Given the description of an element on the screen output the (x, y) to click on. 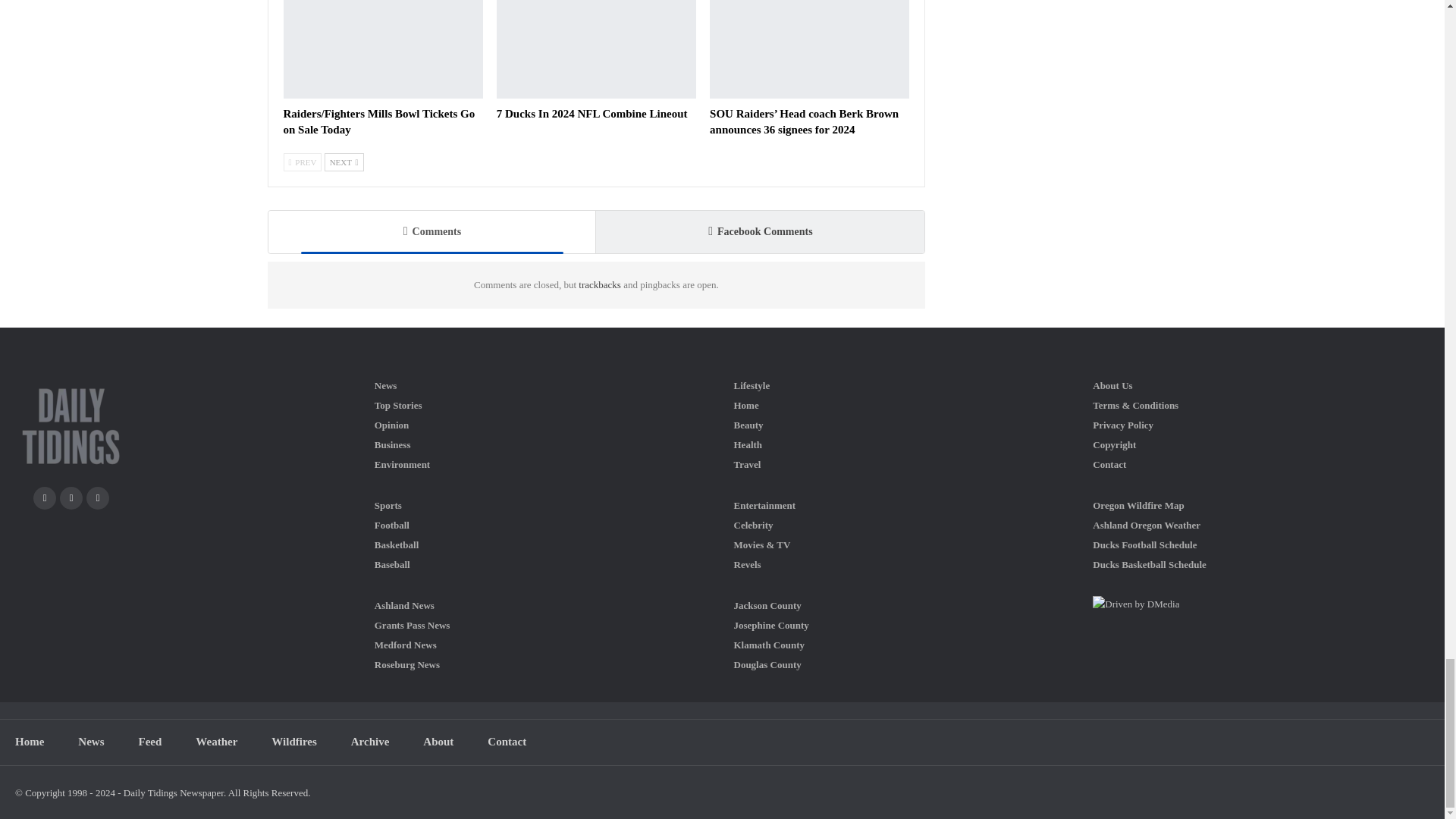
7 Ducks In 2024 NFL Combine Lineout (595, 49)
Next (344, 162)
7 Ducks In 2024 NFL Combine Lineout (591, 113)
Previous (302, 162)
